Given the description of an element on the screen output the (x, y) to click on. 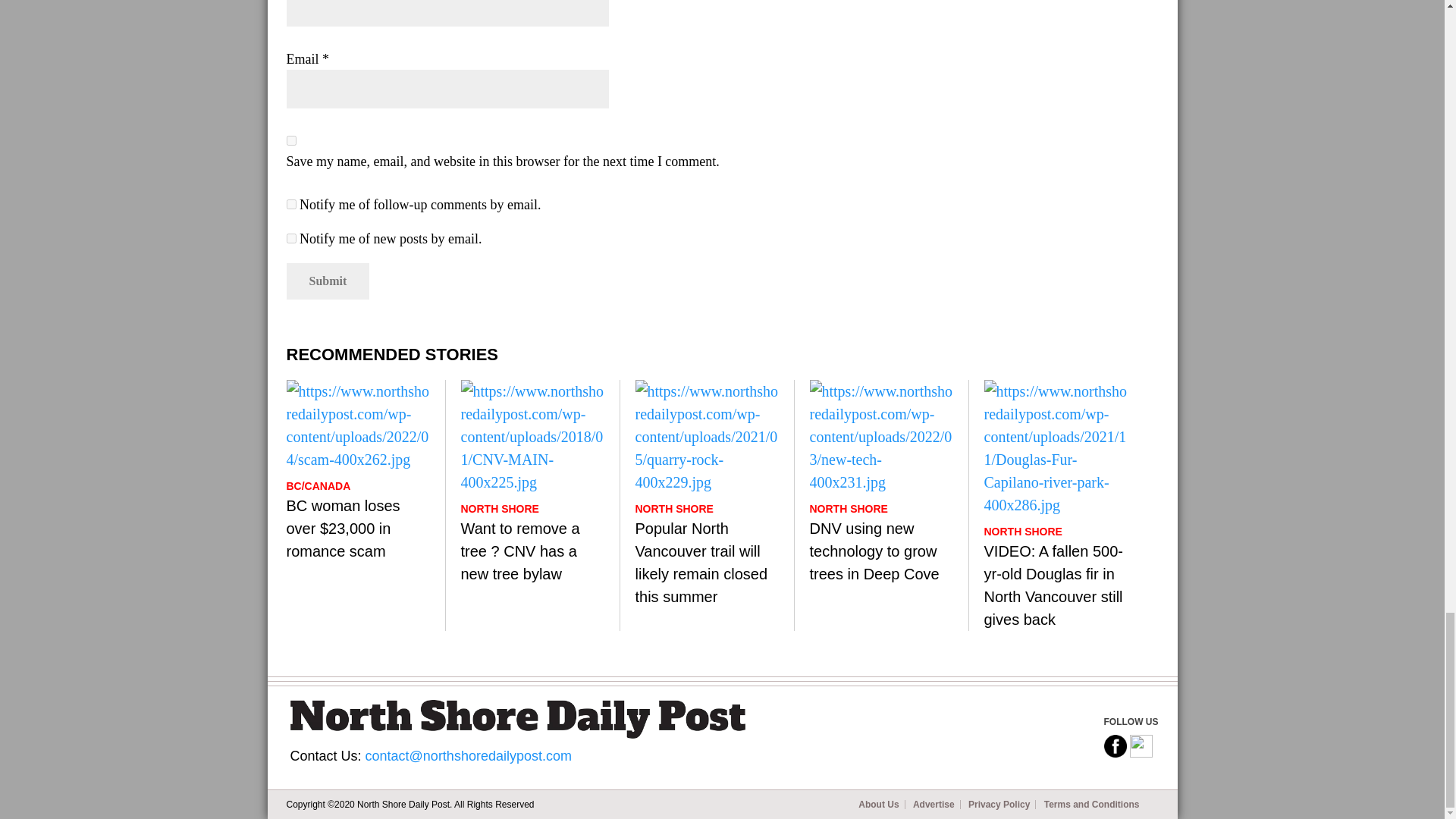
subscribe (291, 204)
Submit (327, 280)
subscribe (291, 238)
Submit (327, 280)
yes (291, 140)
